Given the description of an element on the screen output the (x, y) to click on. 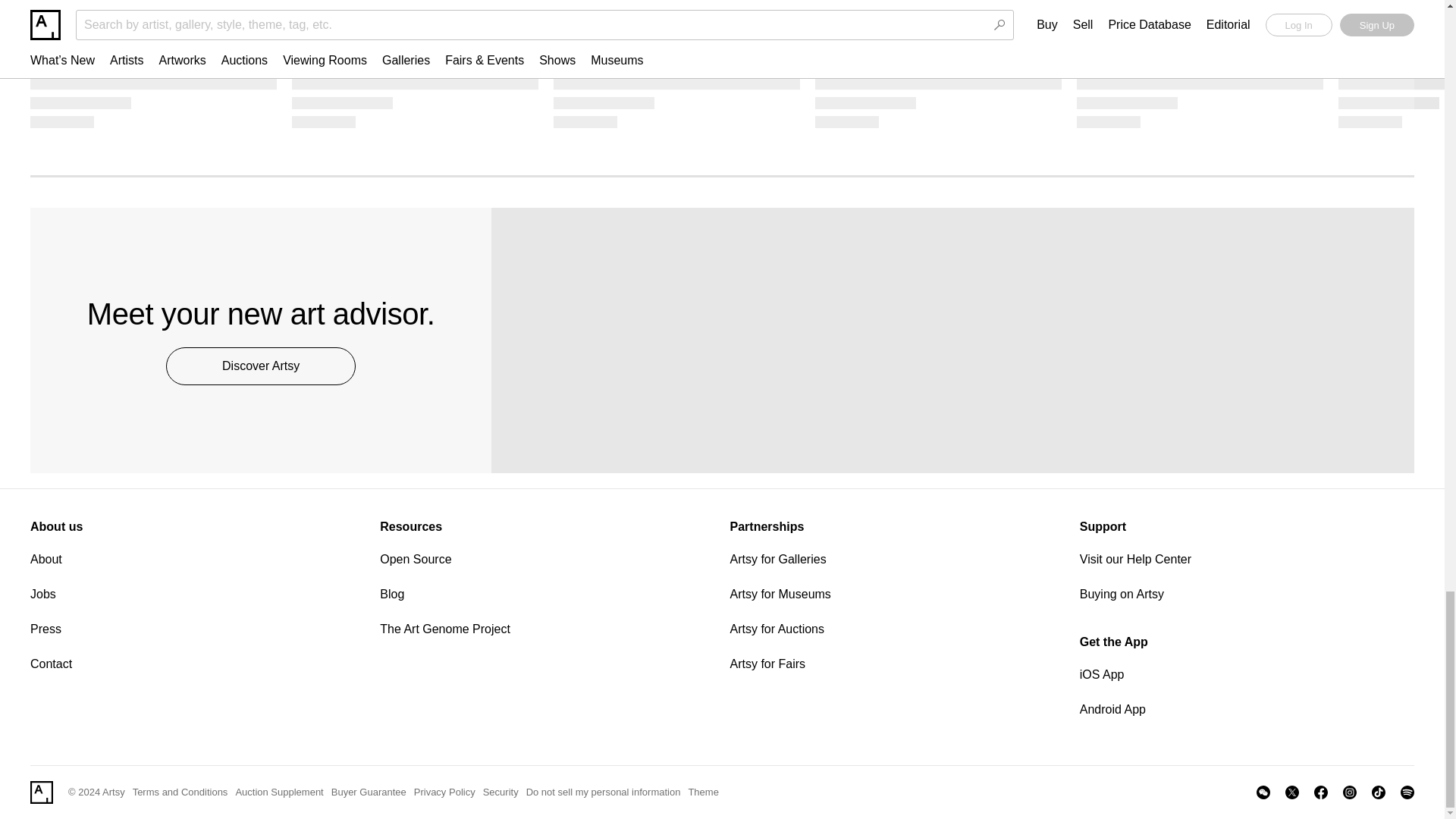
About (197, 559)
Contact (197, 664)
Artsy (41, 792)
Press (197, 629)
Discover Artsy (260, 365)
Jobs (197, 594)
